Given the description of an element on the screen output the (x, y) to click on. 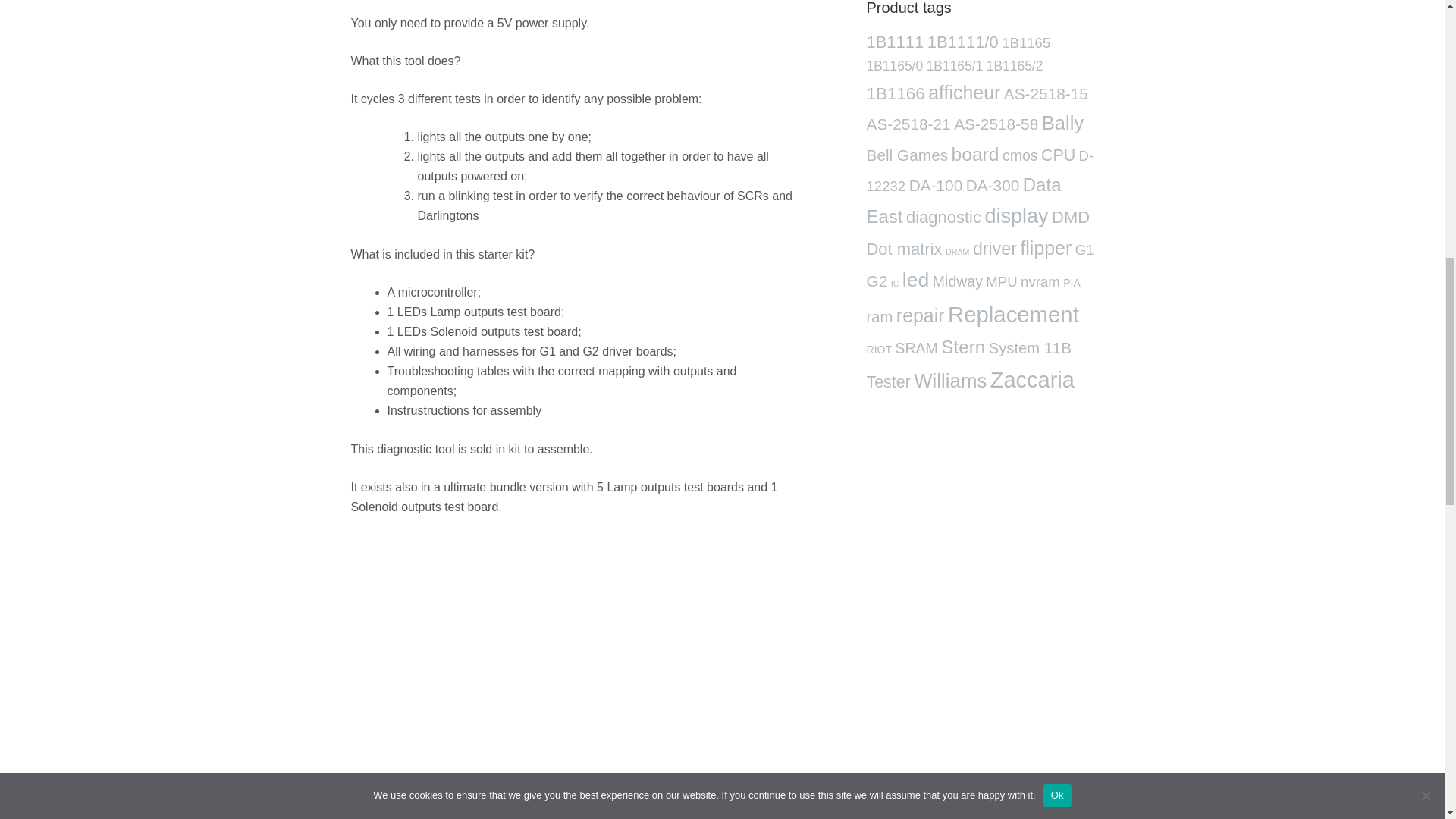
Zaccaria Driver Boards diagnostic tool (577, 677)
